Given the description of an element on the screen output the (x, y) to click on. 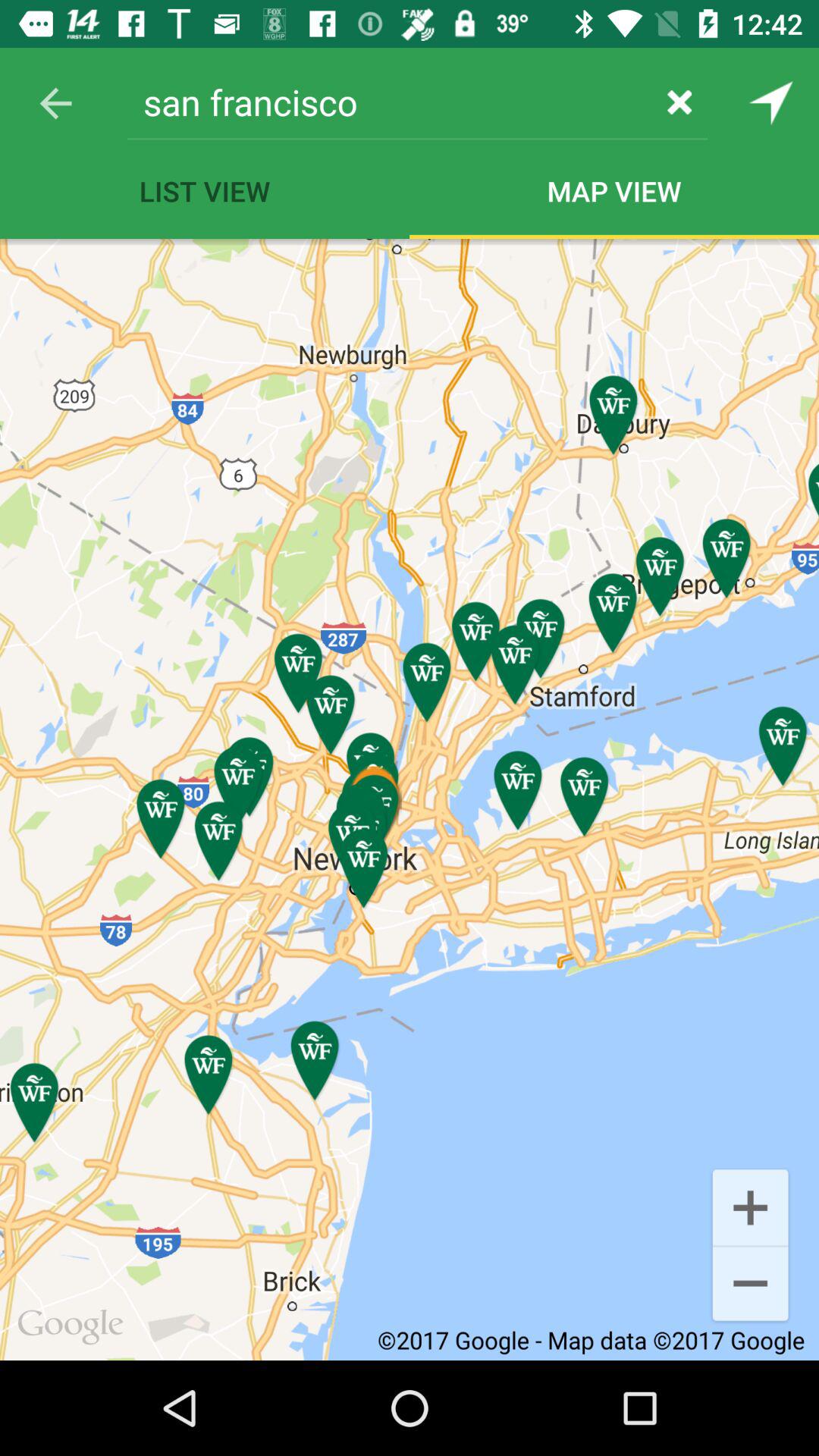
launch the icon to the left of san francisco (55, 103)
